Given the description of an element on the screen output the (x, y) to click on. 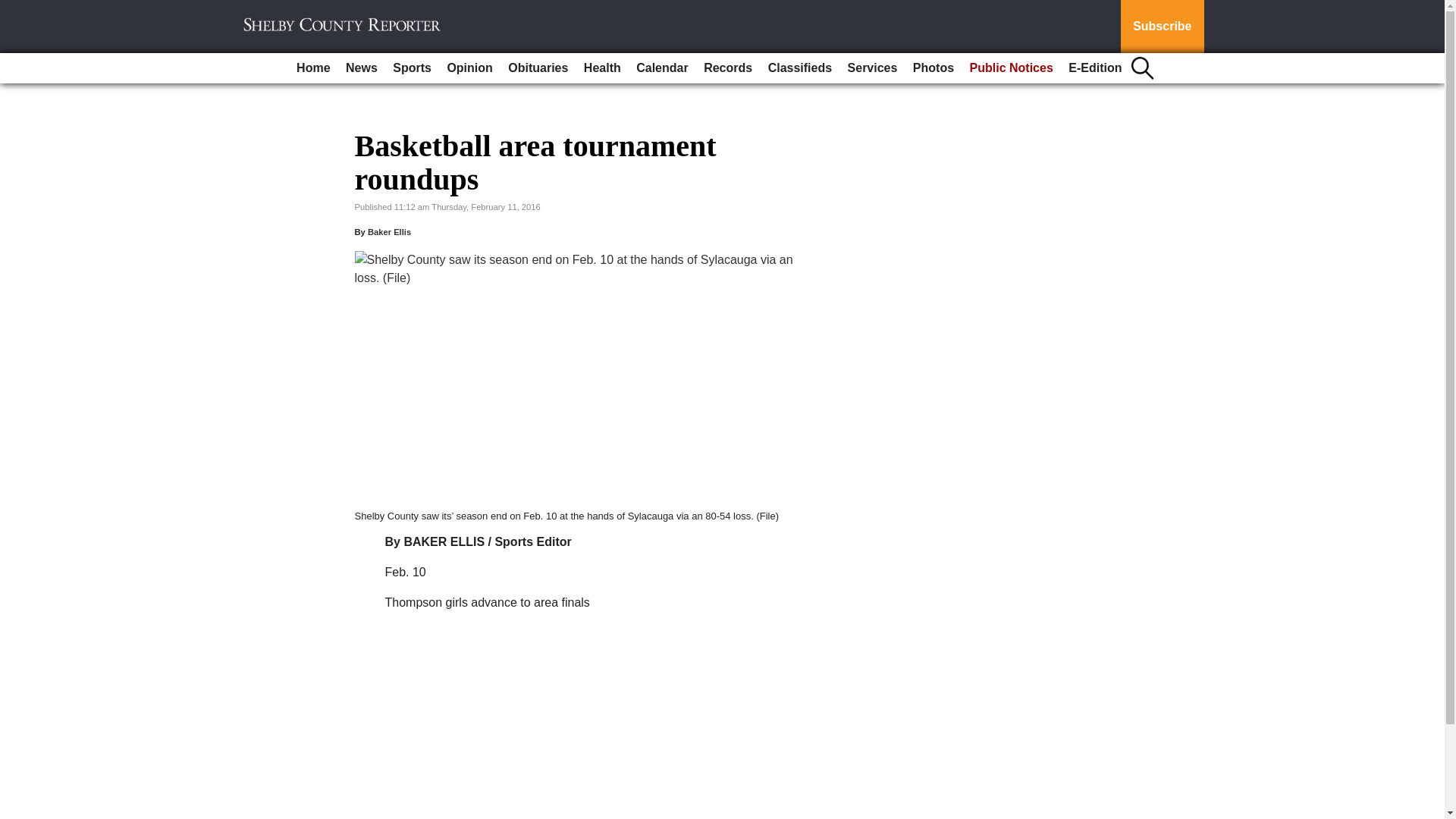
Records (727, 68)
Health (602, 68)
Obituaries (537, 68)
Calendar (662, 68)
News (361, 68)
Classifieds (799, 68)
Subscribe (1162, 26)
Services (872, 68)
Opinion (469, 68)
Sports (412, 68)
